Given the description of an element on the screen output the (x, y) to click on. 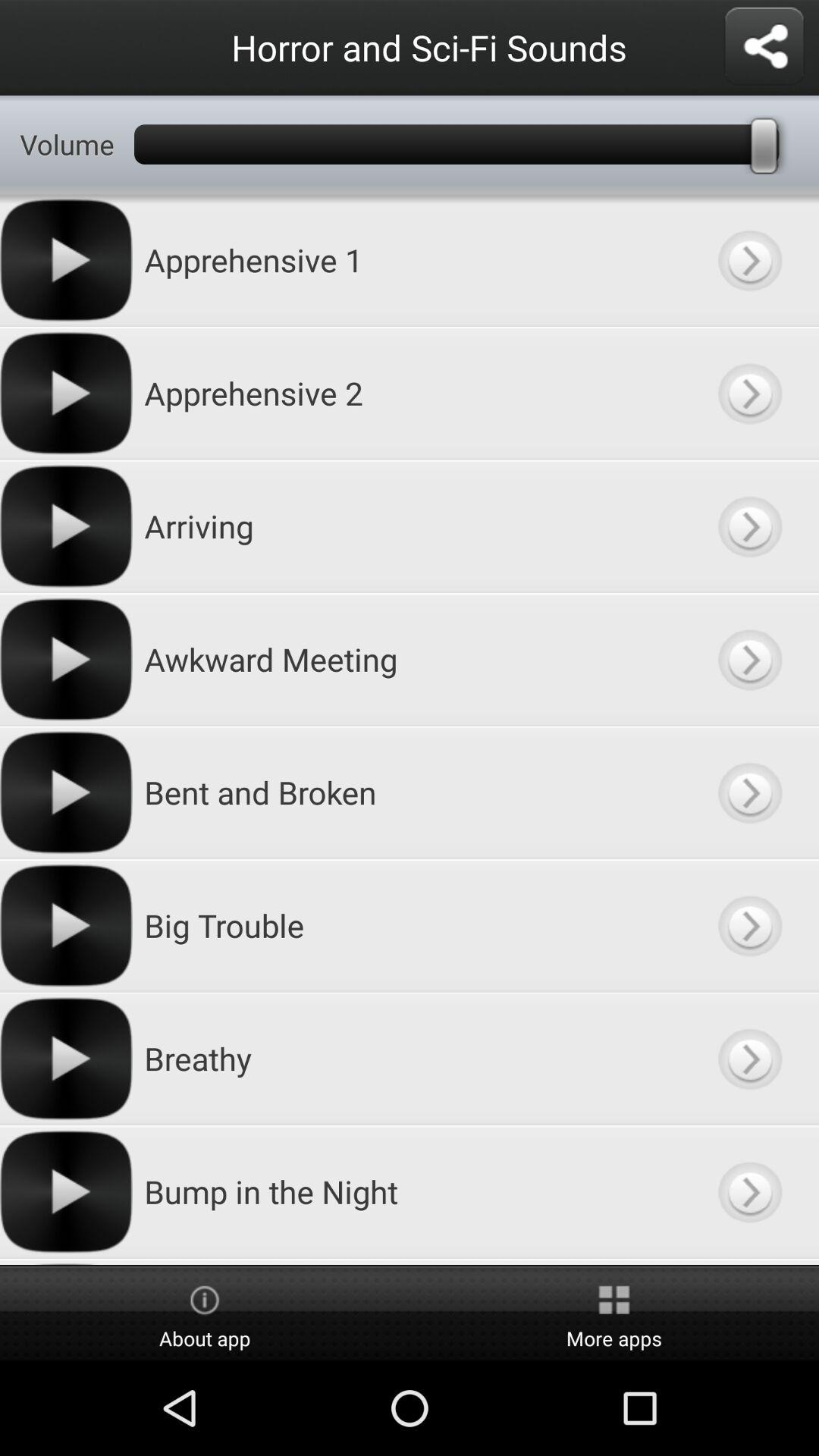
play chapter (749, 526)
